Given the description of an element on the screen output the (x, y) to click on. 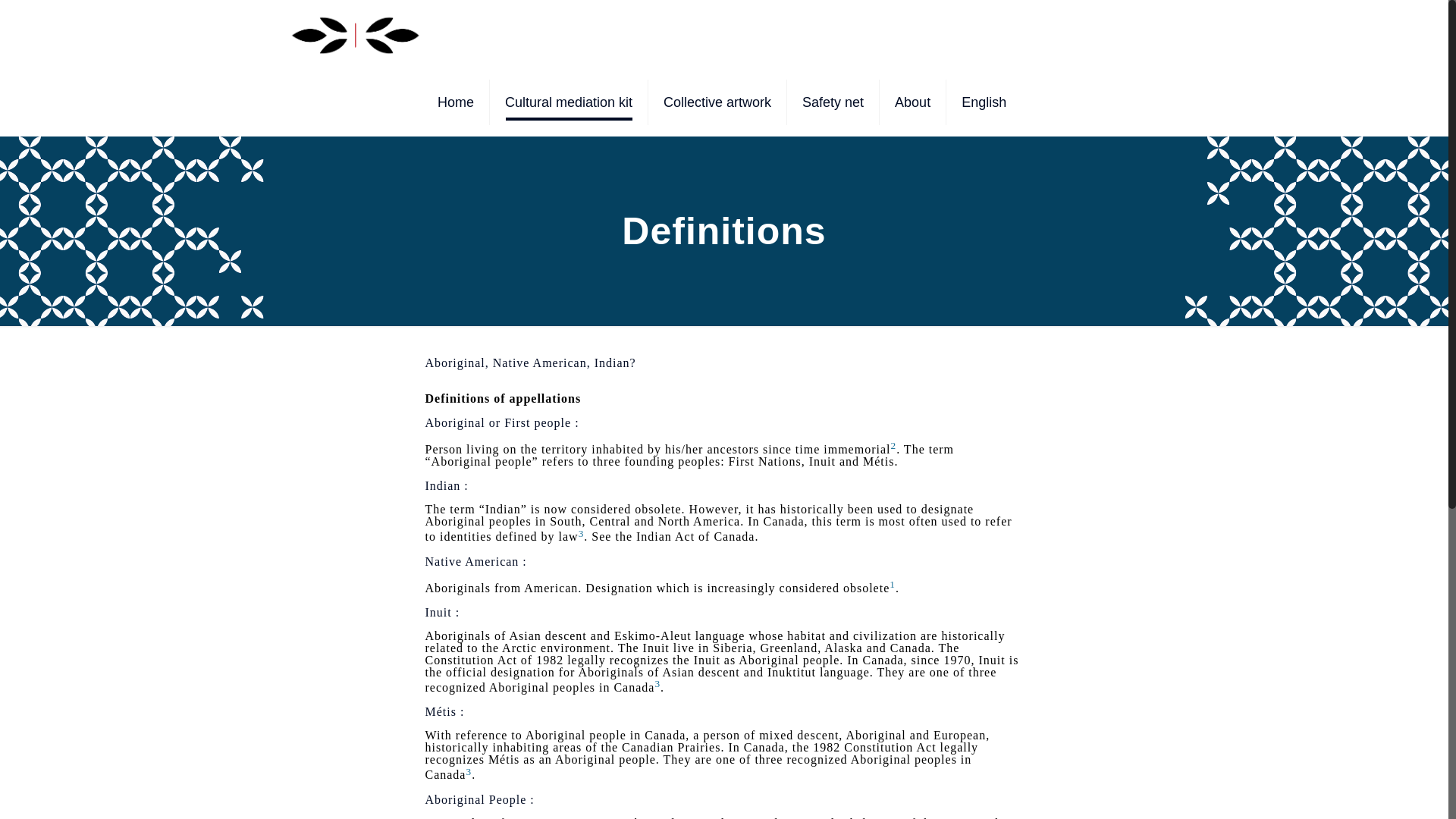
Home (455, 101)
Cultural mediation kit (568, 101)
Collective artwork (717, 101)
